Given the description of an element on the screen output the (x, y) to click on. 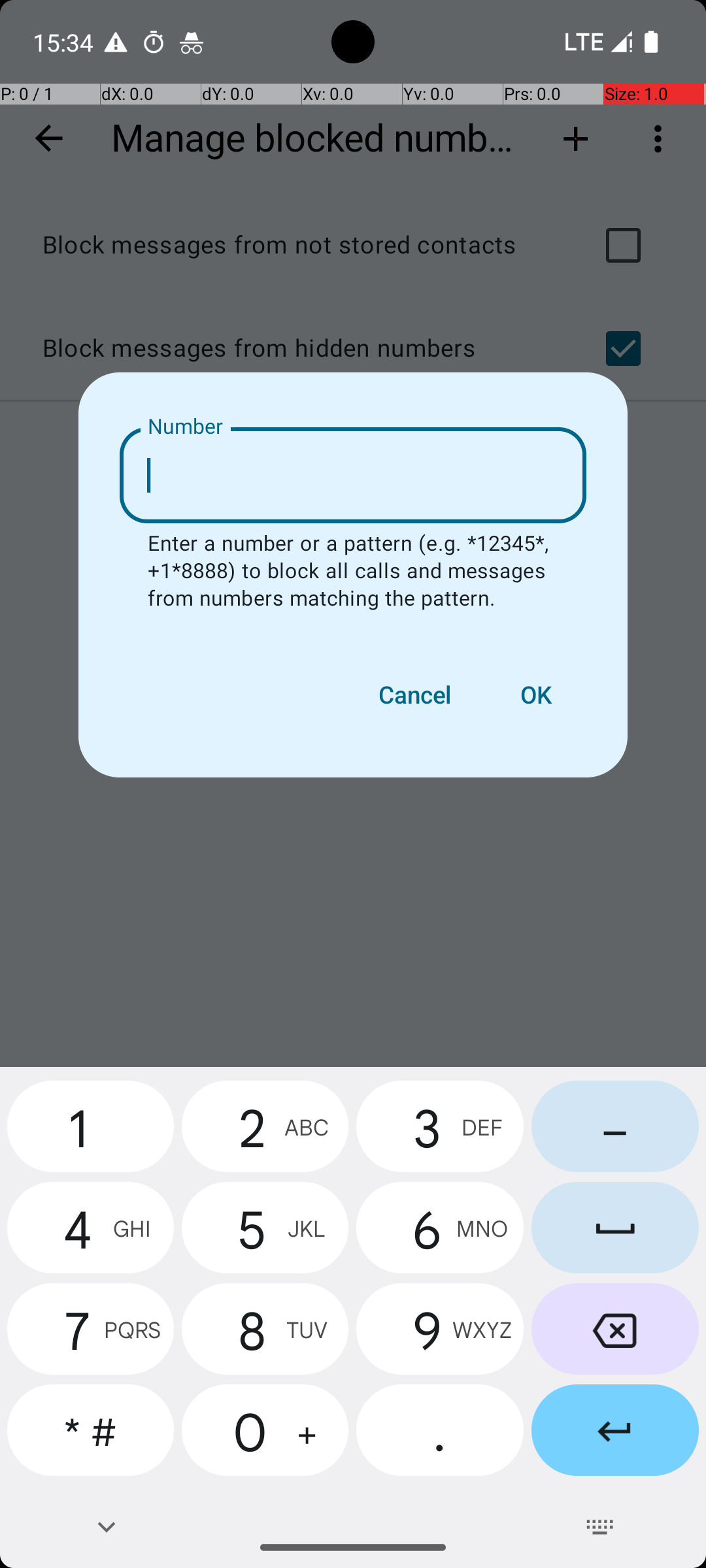
Number Element type: android.widget.TextView (185, 427)
Enter a number or a pattern (e.g. *12345*, +1*8888) to block all calls and messages from numbers matching the pattern. Element type: android.widget.TextView (352, 571)
